Given the description of an element on the screen output the (x, y) to click on. 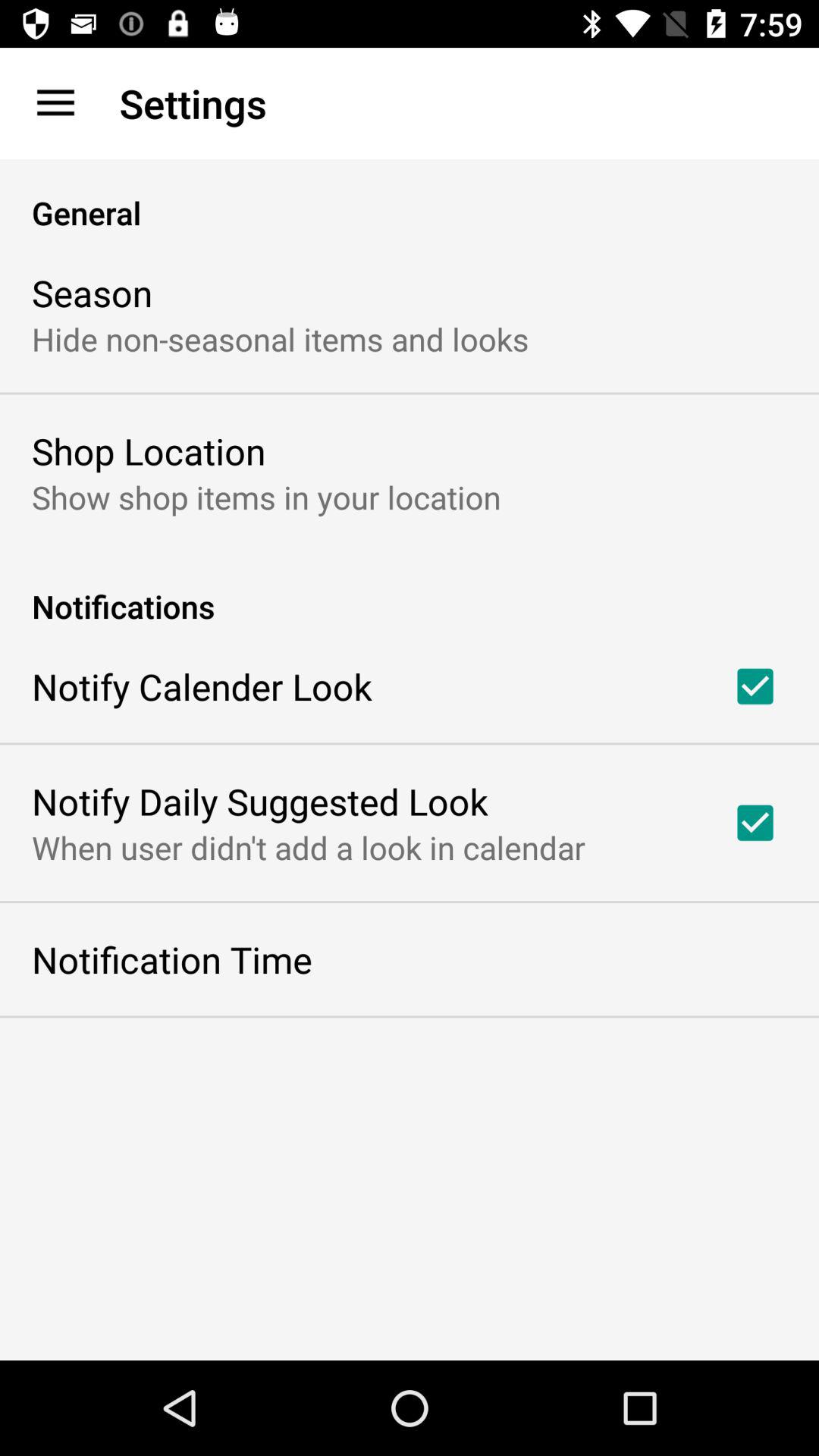
turn on the notifications item (409, 589)
